Given the description of an element on the screen output the (x, y) to click on. 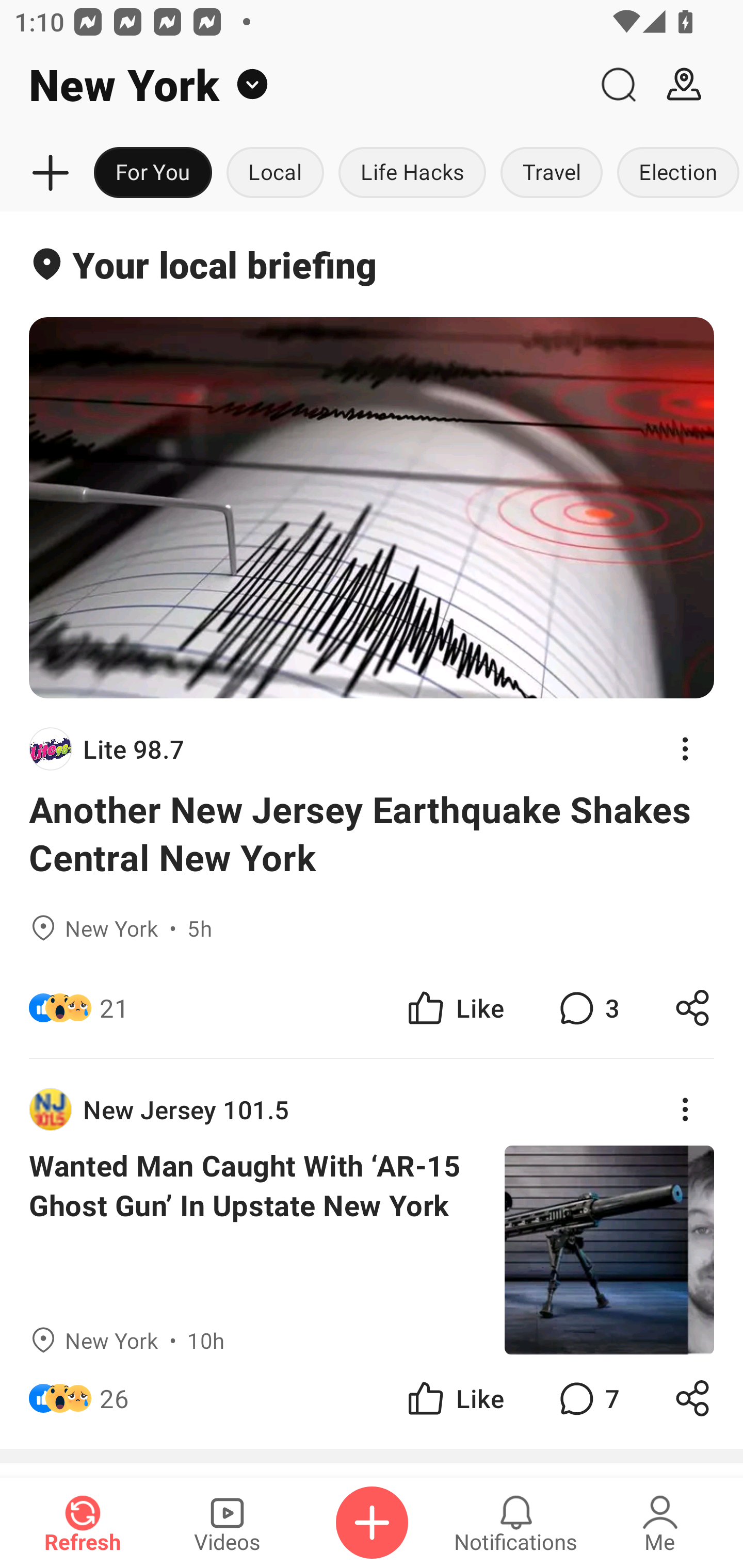
New York (292, 84)
For You (152, 172)
Local (275, 172)
Life Hacks (412, 172)
Travel (551, 172)
Election (676, 172)
21 (114, 1007)
Like (454, 1007)
3 (587, 1007)
26 (113, 1397)
Like (454, 1397)
7 (587, 1397)
Videos (227, 1522)
Notifications (516, 1522)
Me (659, 1522)
